Given the description of an element on the screen output the (x, y) to click on. 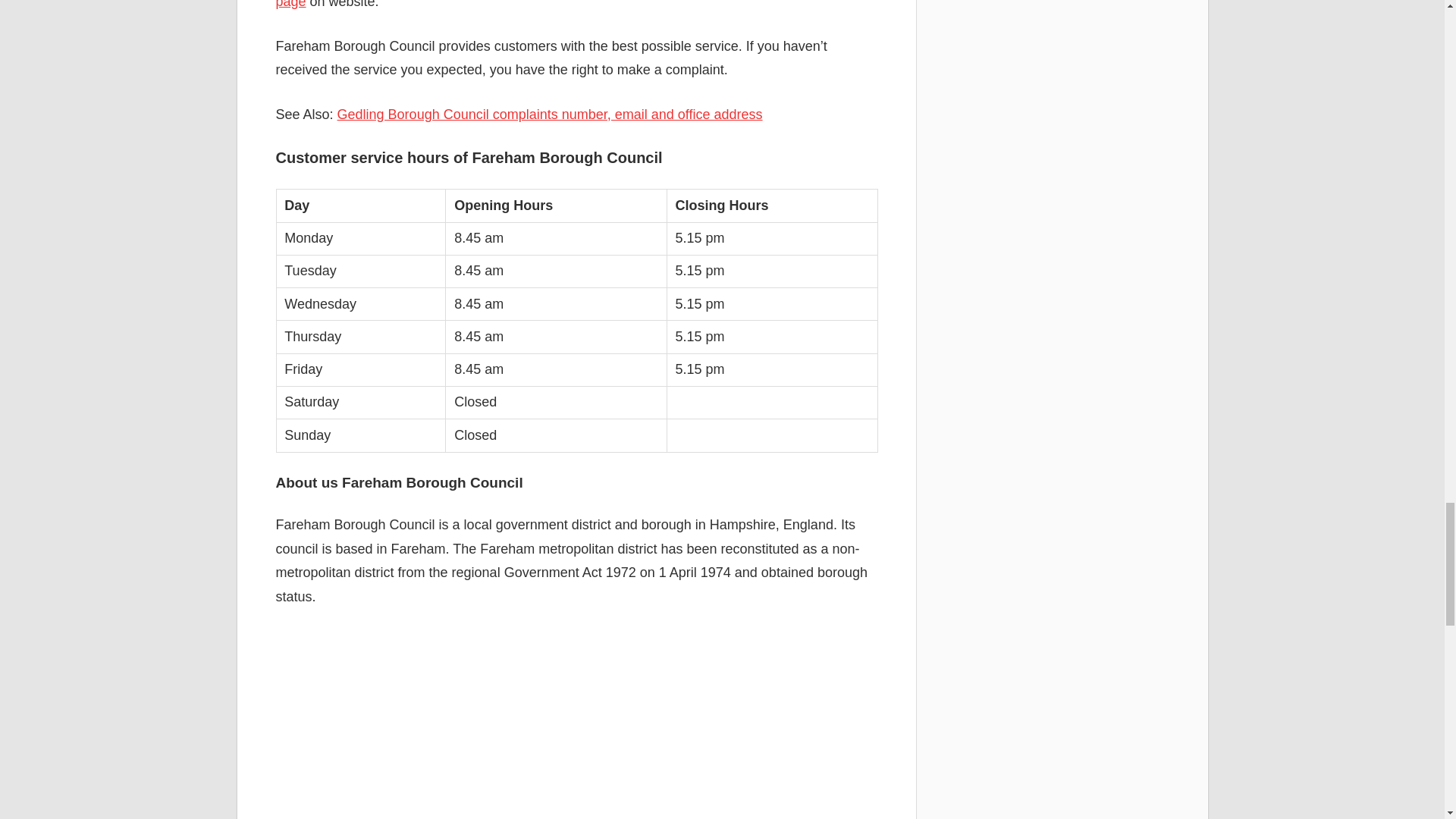
Contact Us page (566, 4)
